Given the description of an element on the screen output the (x, y) to click on. 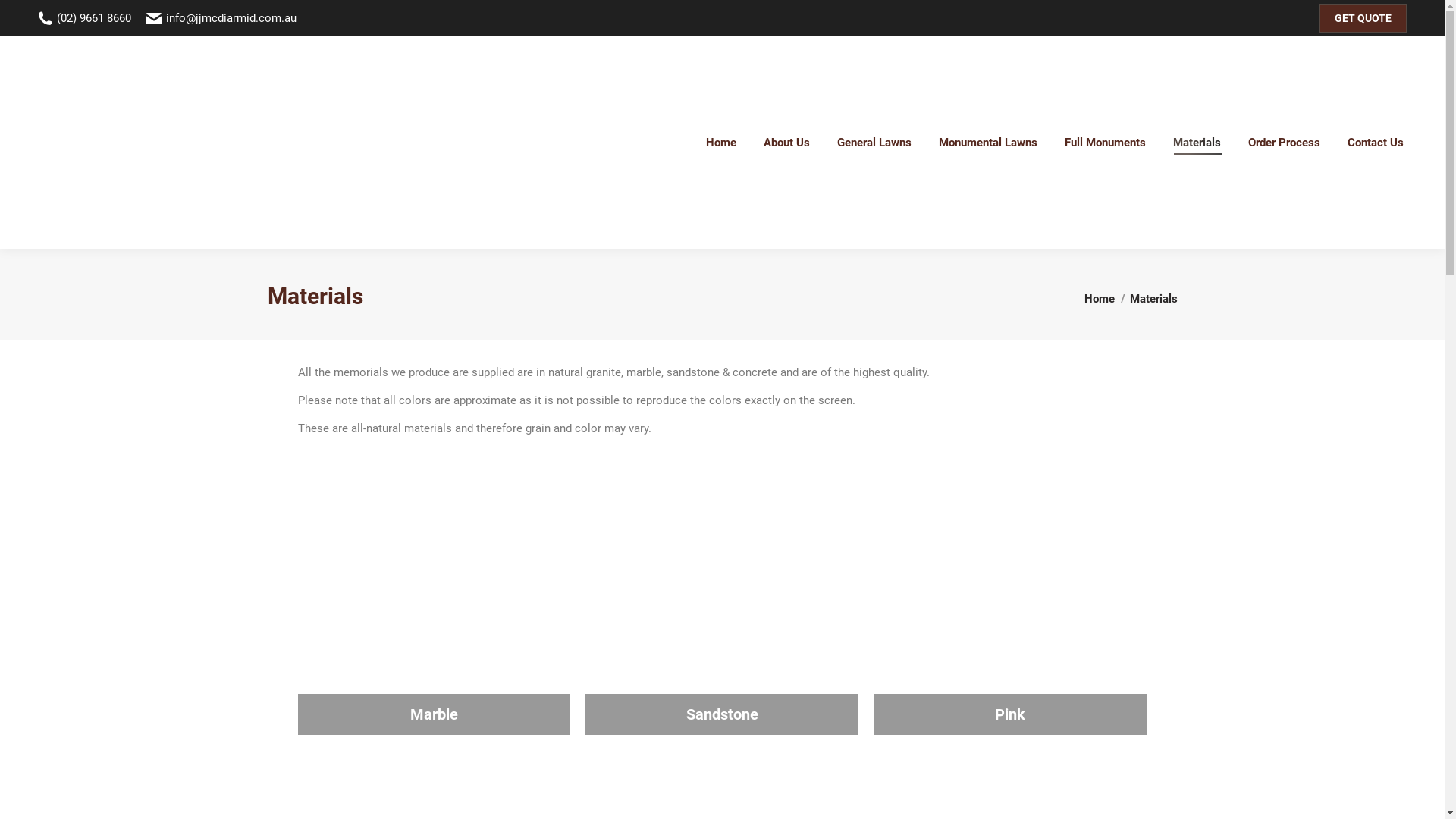
Materials Element type: text (1196, 142)
Home Element type: text (1099, 298)
Home Element type: text (720, 142)
General Lawns Element type: text (874, 142)
About Us Element type: text (786, 142)
(02) 9661 8660 Element type: text (84, 18)
Contact Us Element type: text (1375, 142)
Full Monuments Element type: text (1104, 142)
Monumental Lawns Element type: text (987, 142)
GET QUOTE Element type: text (1362, 17)
Order Process Element type: text (1284, 142)
